Given the description of an element on the screen output the (x, y) to click on. 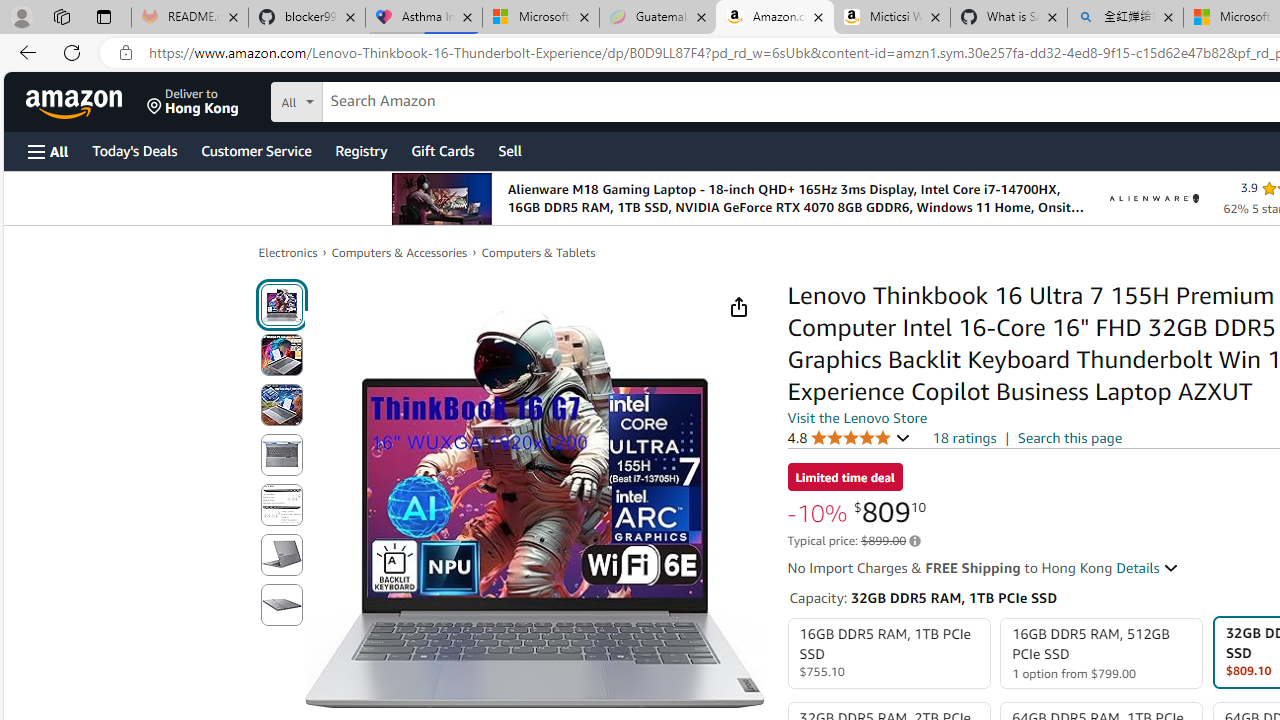
Computers & Tablets (538, 251)
Details  (1148, 568)
Learn more about Amazon pricing and savings (914, 541)
Search in (371, 99)
Share (738, 307)
Open Menu (48, 151)
Electronics (287, 252)
